Given the description of an element on the screen output the (x, y) to click on. 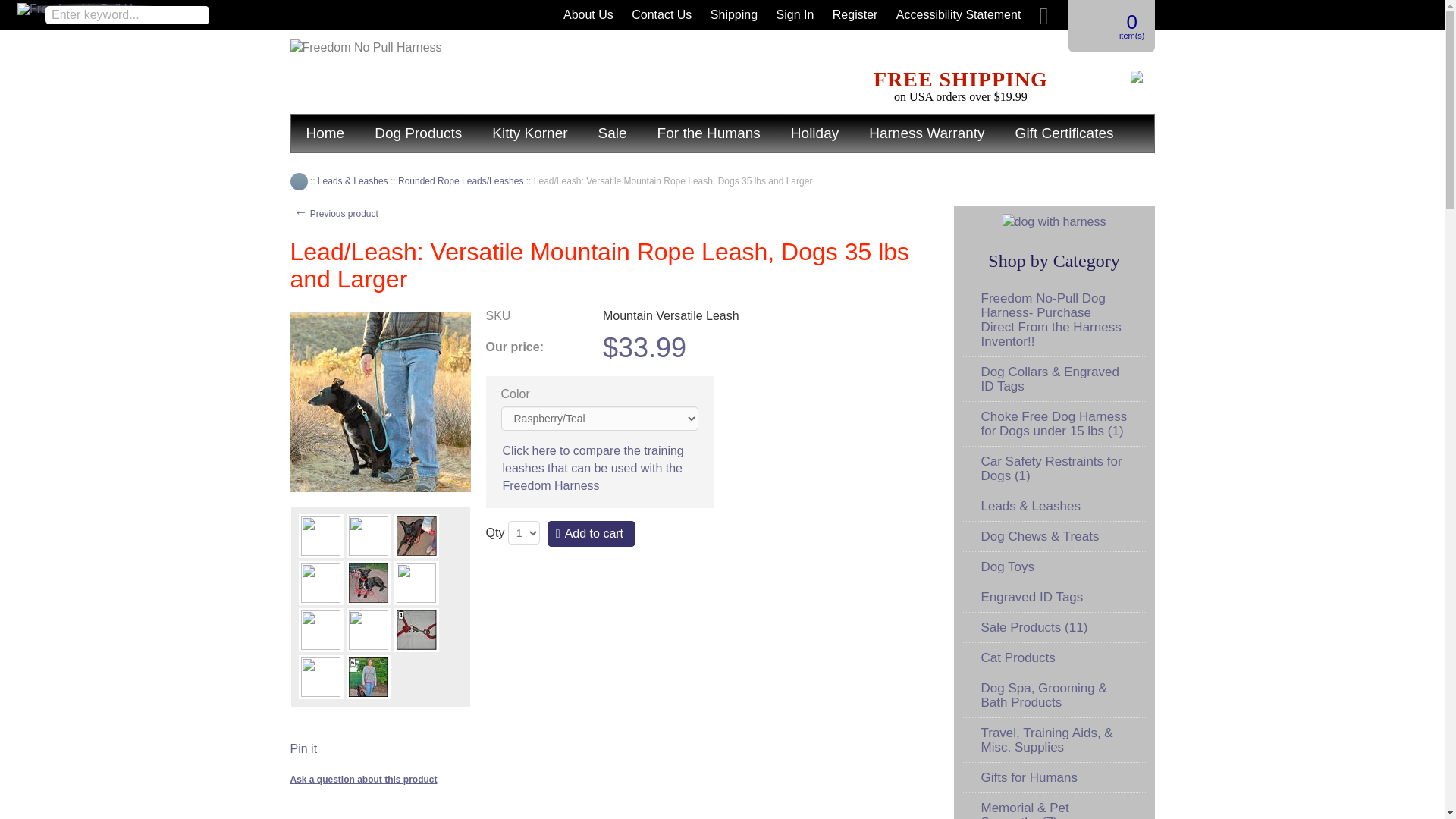
Holiday (814, 133)
Dog Products (418, 133)
Home (298, 181)
Harness Warranty (925, 133)
For the Humans (709, 133)
Gift Certificates (1064, 133)
Home (325, 133)
Sale (612, 133)
Kitty Korner (529, 133)
